Given the description of an element on the screen output the (x, y) to click on. 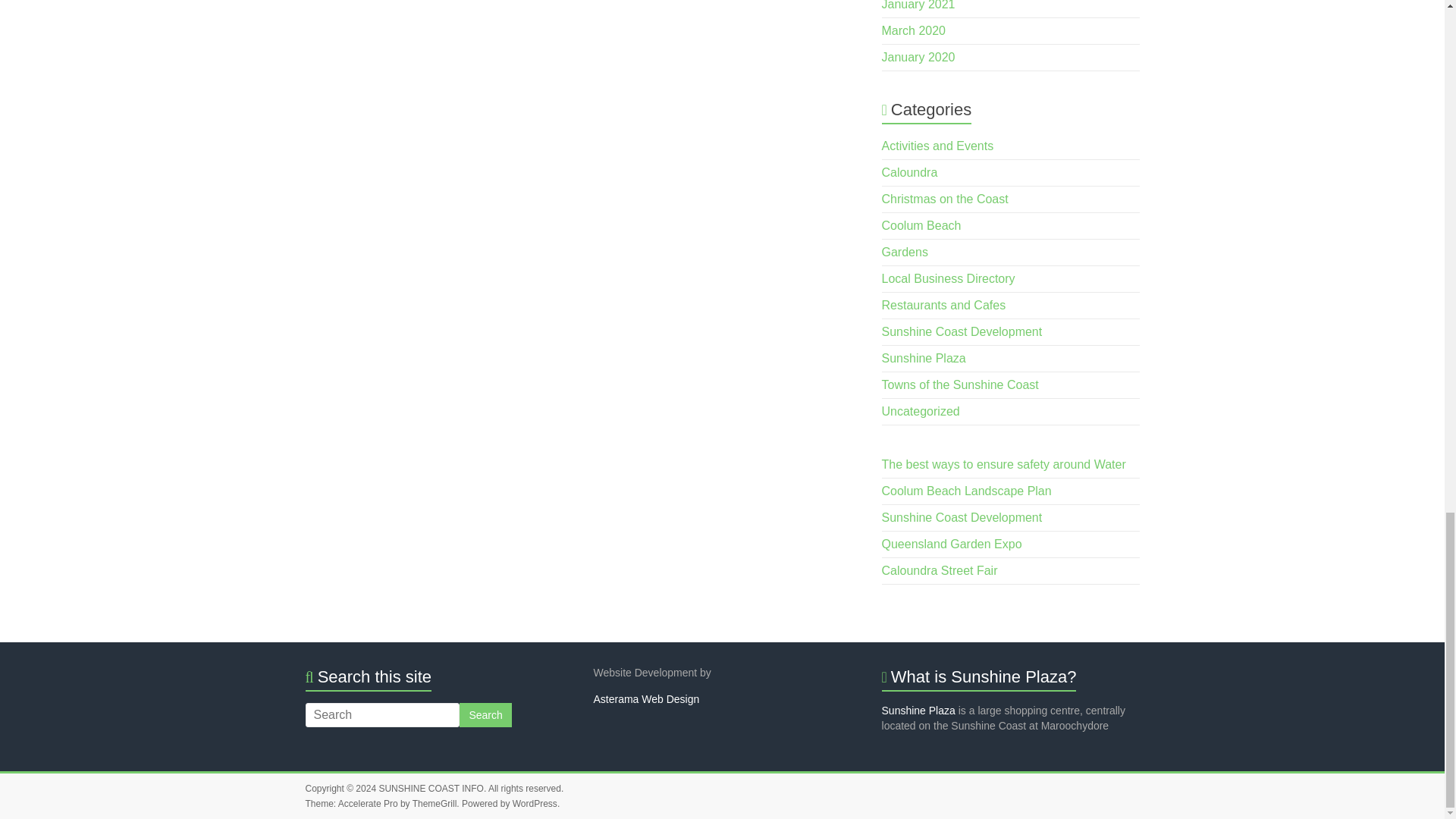
WordPress (534, 803)
Accelerate Pro (367, 803)
SUNSHINE COAST INFO (430, 787)
Search (485, 714)
